Given the description of an element on the screen output the (x, y) to click on. 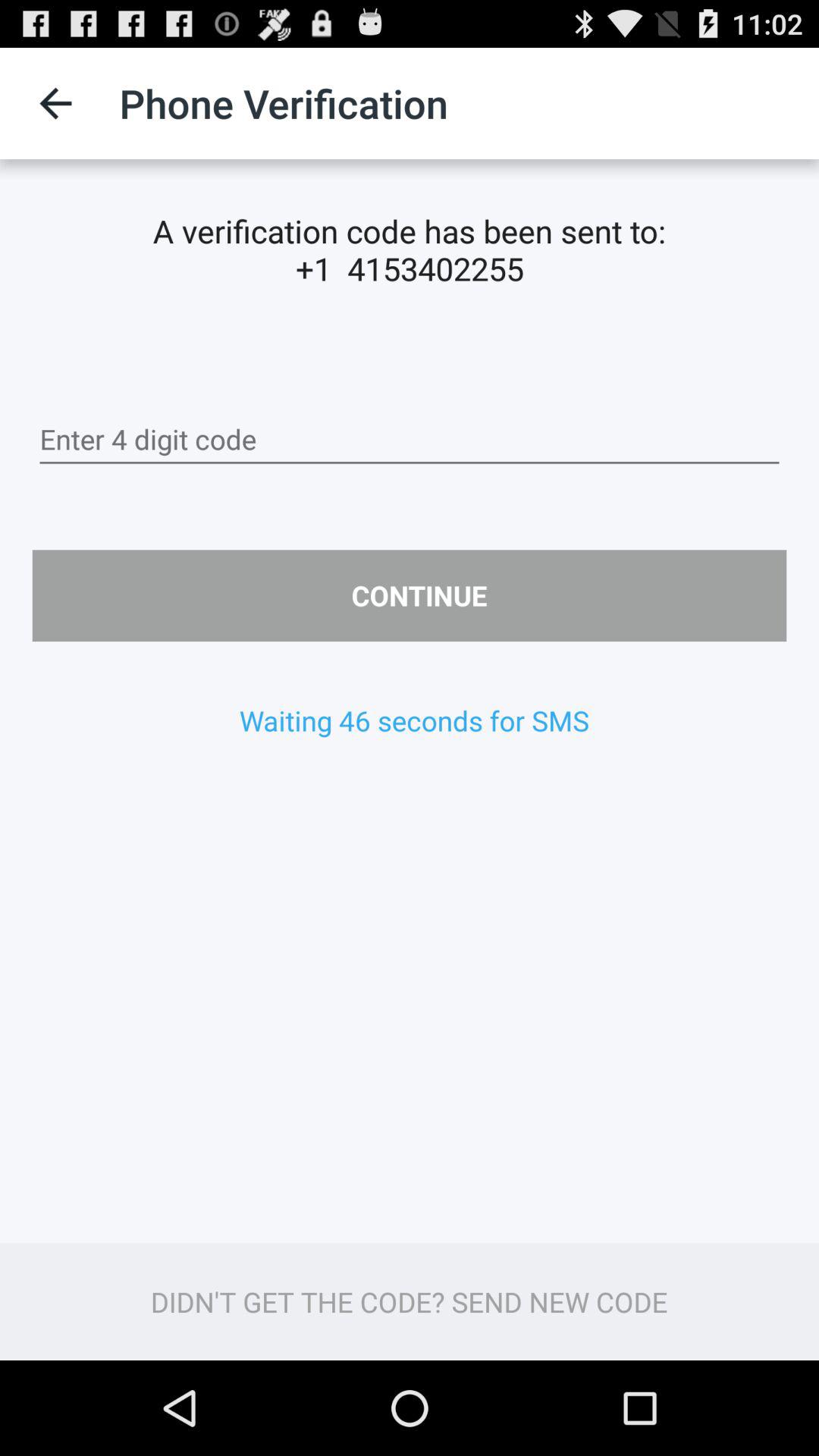
enter the 4 digit security code (409, 439)
